Given the description of an element on the screen output the (x, y) to click on. 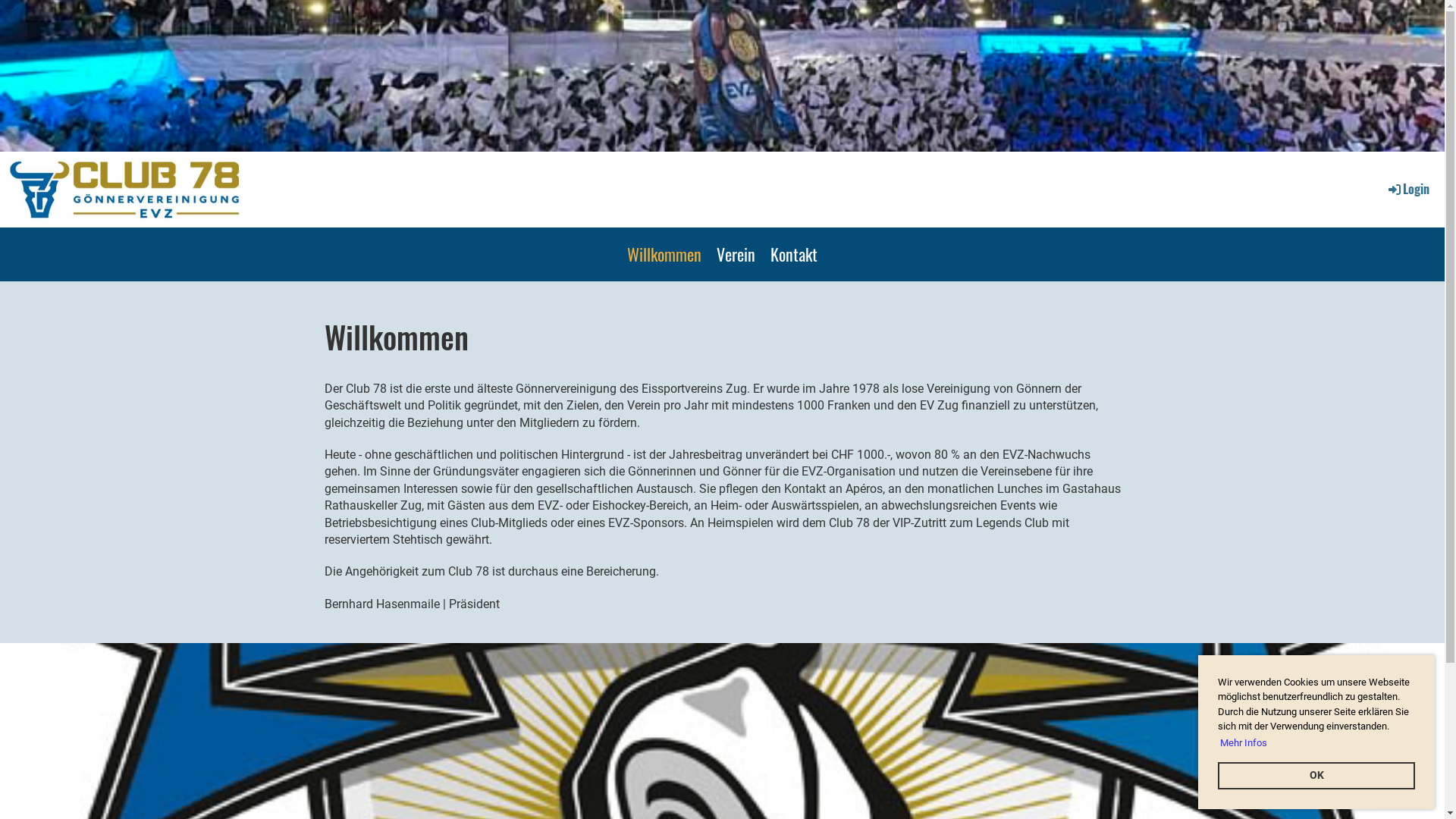
Willkommen Element type: text (664, 254)
OK Element type: text (1316, 775)
Kontakt Element type: text (793, 254)
Verein Element type: text (735, 254)
Login Element type: text (1407, 188)
Mehr Infos Element type: text (1242, 743)
